Given the description of an element on the screen output the (x, y) to click on. 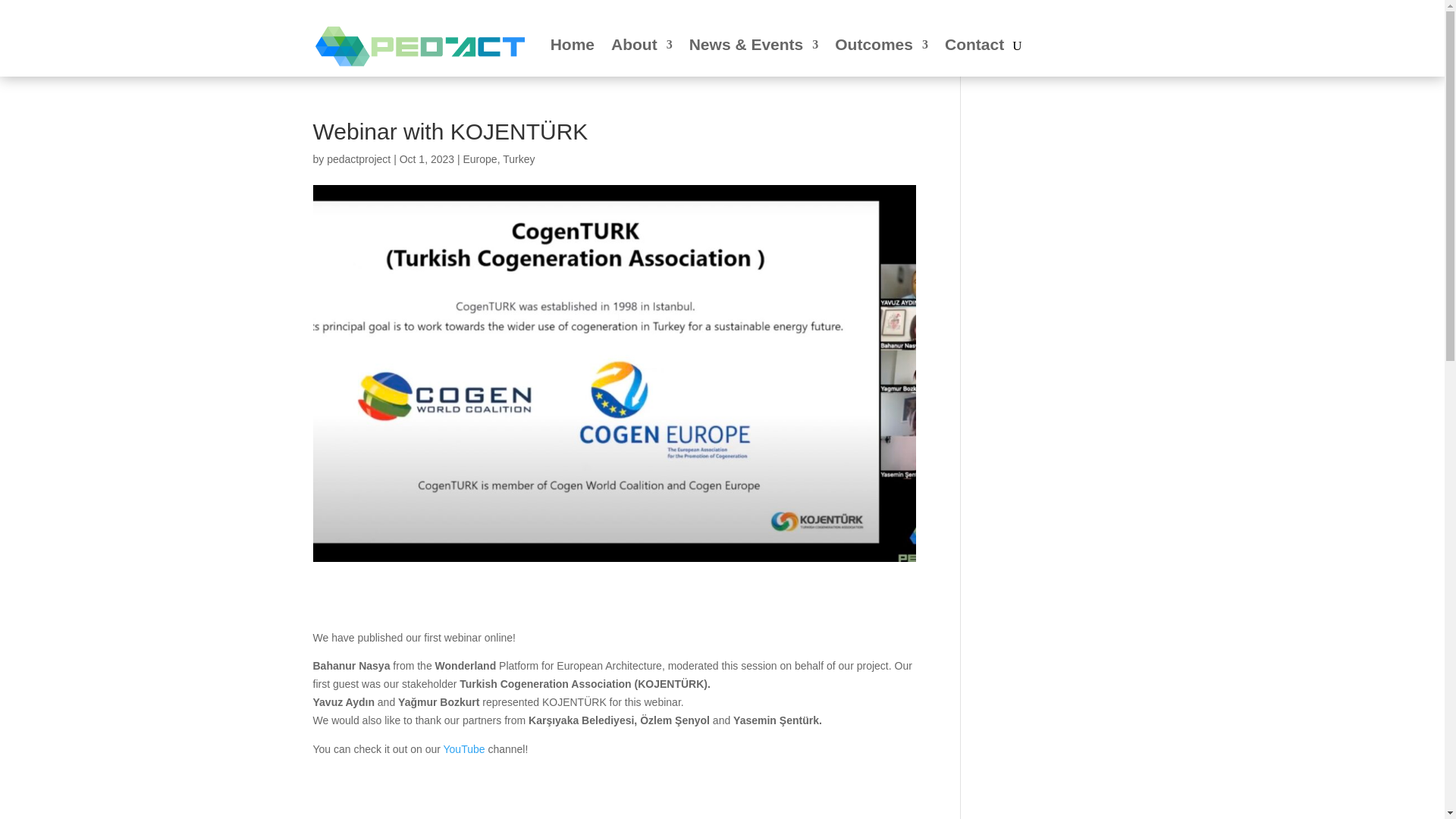
YouTube (464, 748)
Contact (974, 45)
Turkey (518, 159)
About (641, 45)
Outcomes (881, 45)
Posts by pedactproject (358, 159)
pedactproject (358, 159)
Europe (479, 159)
